Given the description of an element on the screen output the (x, y) to click on. 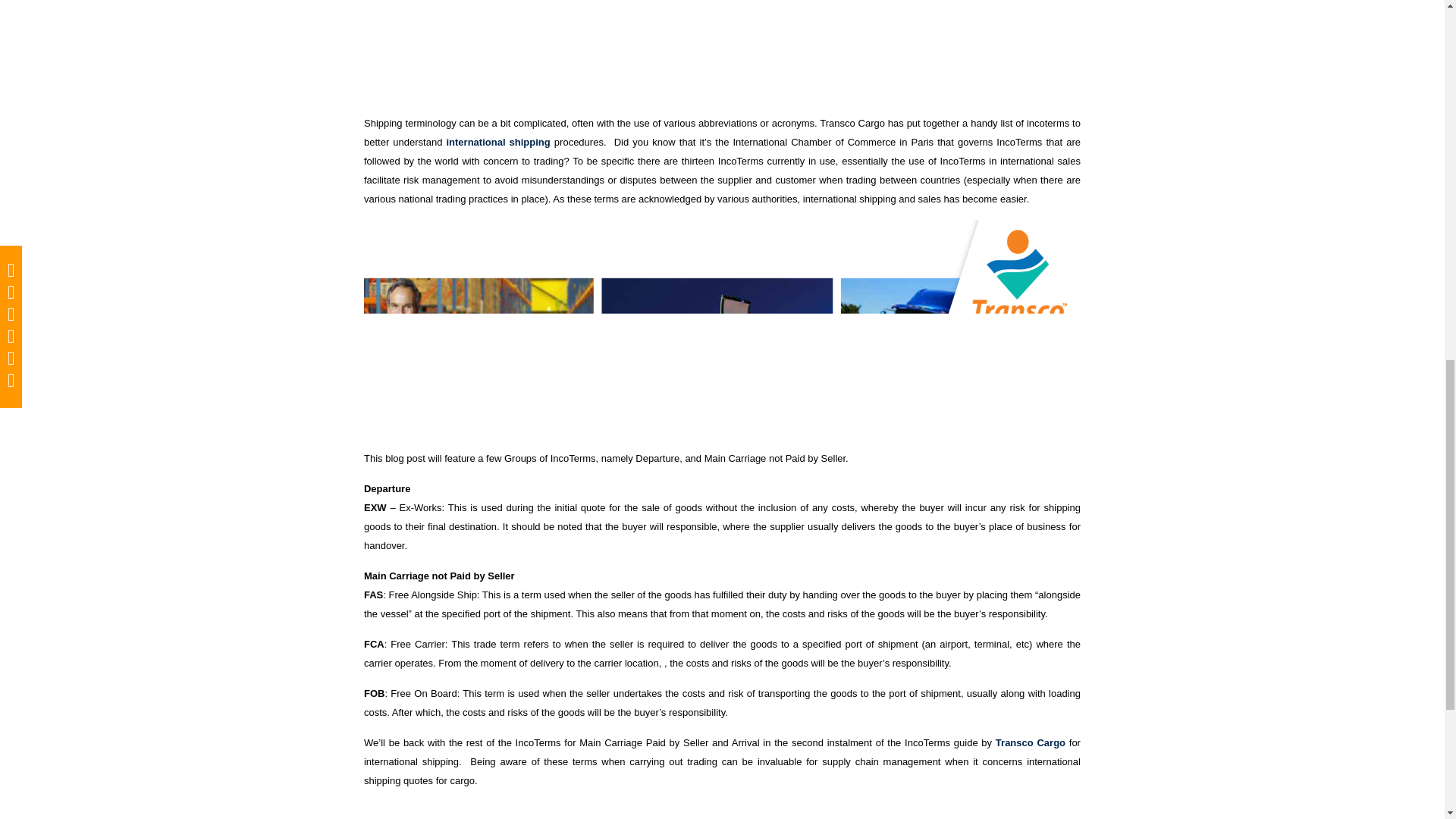
international shipping (497, 142)
Transco Cargo (1030, 742)
